Given the description of an element on the screen output the (x, y) to click on. 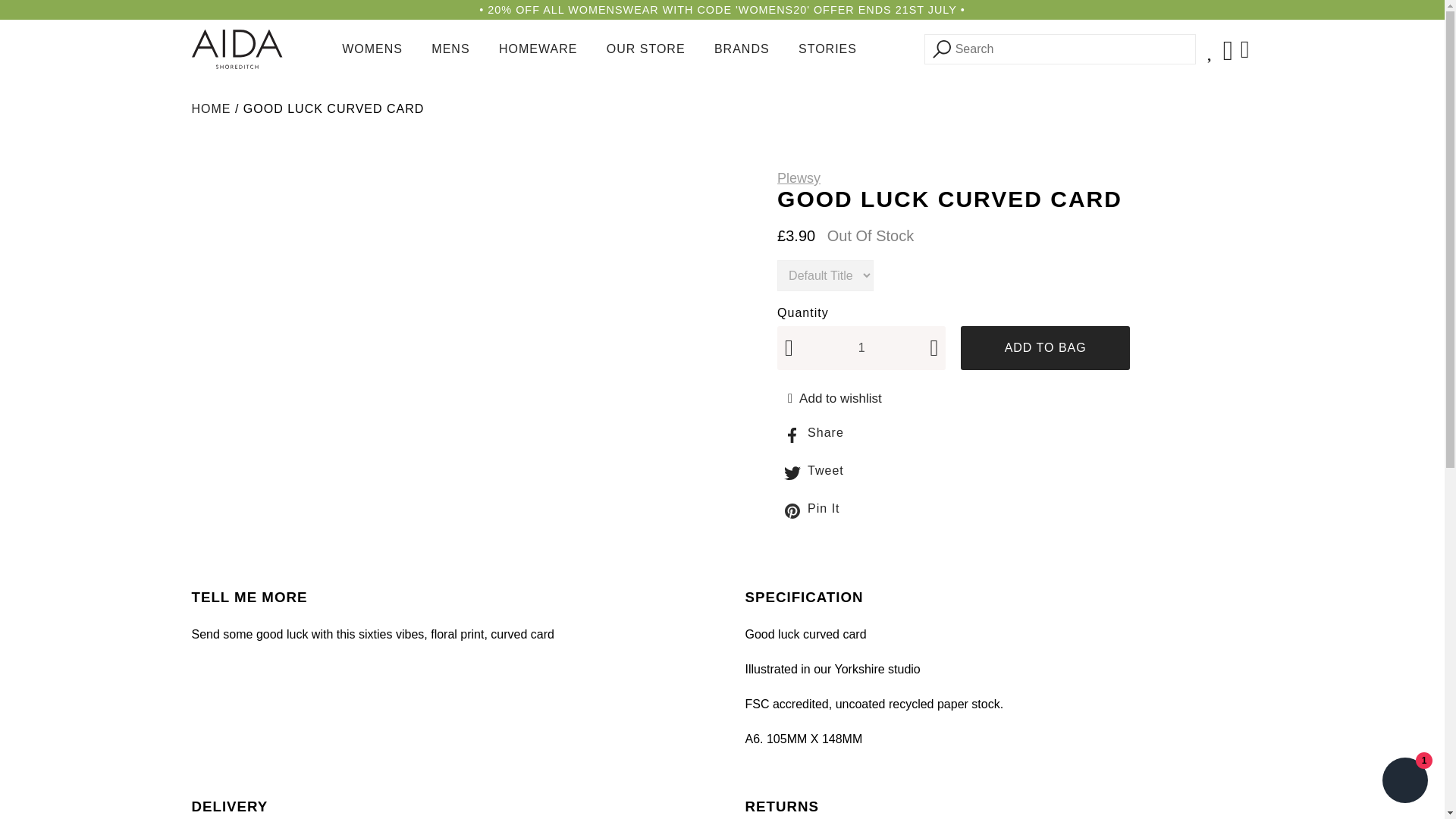
1 (861, 347)
Home (210, 108)
WOMENS (371, 48)
Shopify online store chat (1404, 781)
MENS (450, 48)
